Given the description of an element on the screen output the (x, y) to click on. 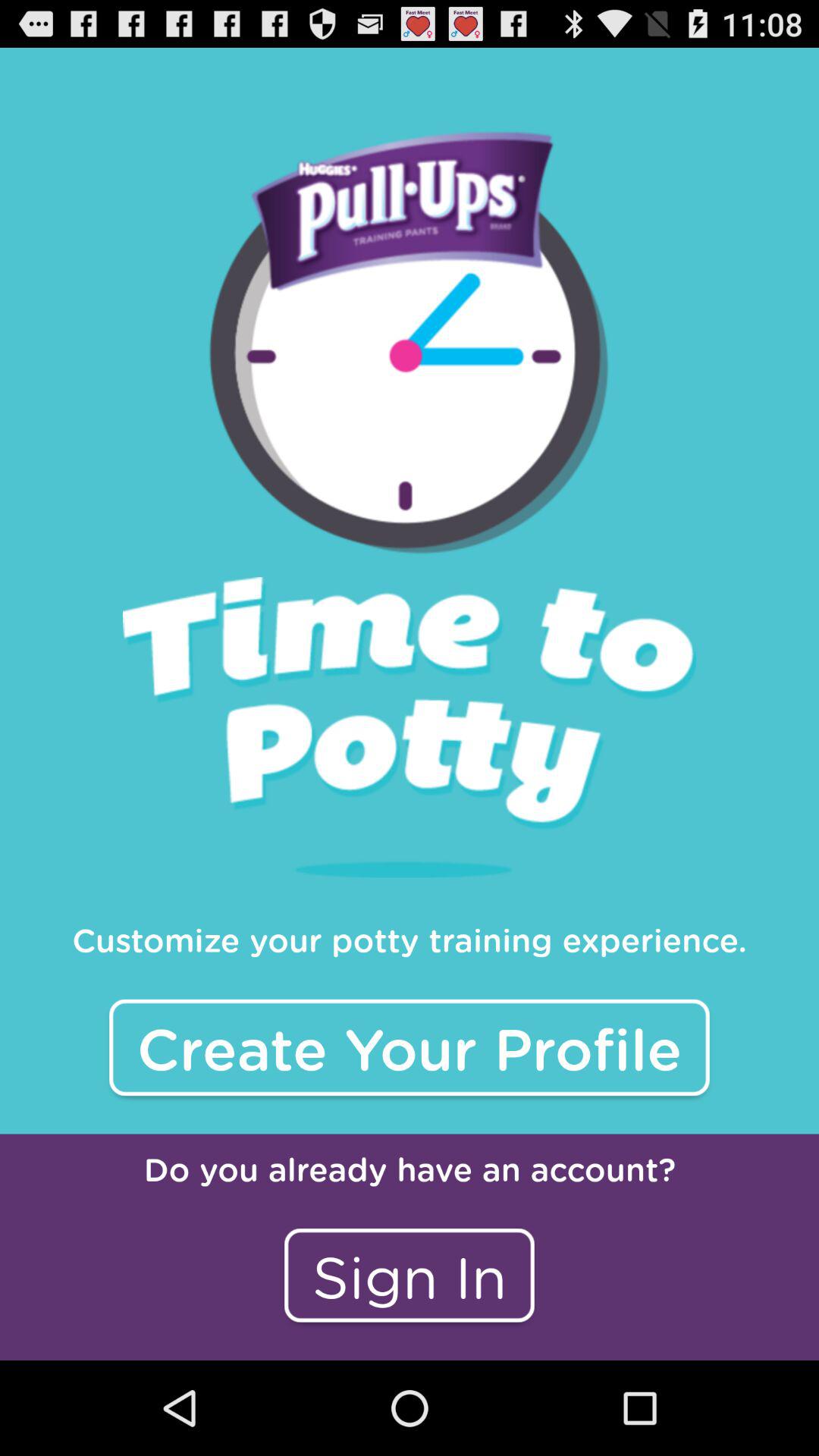
press the sign in icon (409, 1275)
